Given the description of an element on the screen output the (x, y) to click on. 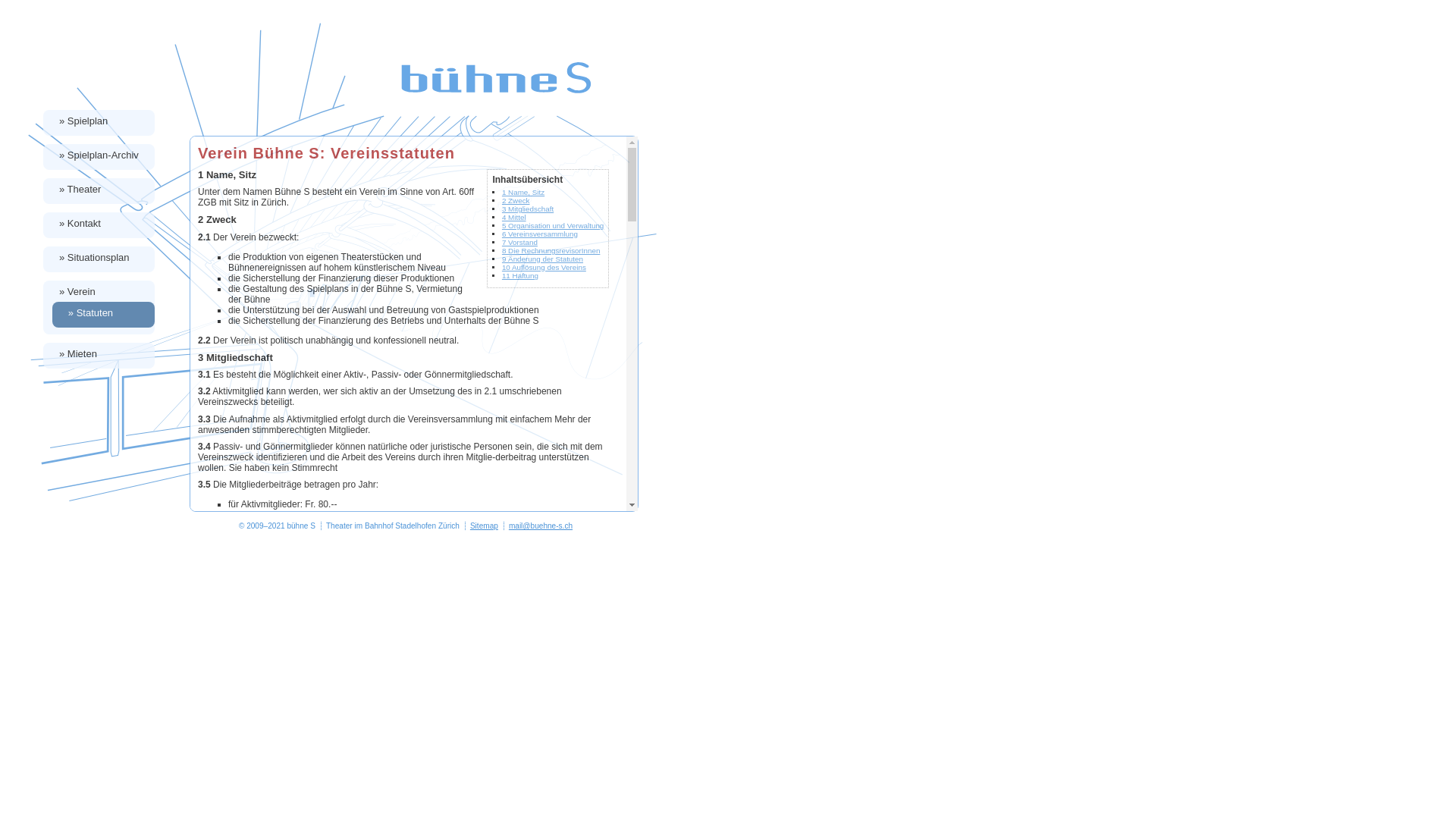
7 Vorstand Element type: text (519, 242)
5 Organisation und Verwaltung Element type: text (552, 225)
mail@buehne-s.ch Element type: text (540, 525)
6 Vereinsversammlung Element type: text (539, 233)
4 Mittel Element type: text (514, 217)
8 Die RechnungsrevisorInnen Element type: text (550, 250)
11 Haftung Element type: text (520, 275)
Sitemap Element type: text (484, 525)
2 Zweck Element type: text (516, 200)
bearbeiten Element type: text (1437, 810)
1 Name, Sitz Element type: text (523, 192)
3 Mitgliedschaft Element type: text (527, 208)
